Given the description of an element on the screen output the (x, y) to click on. 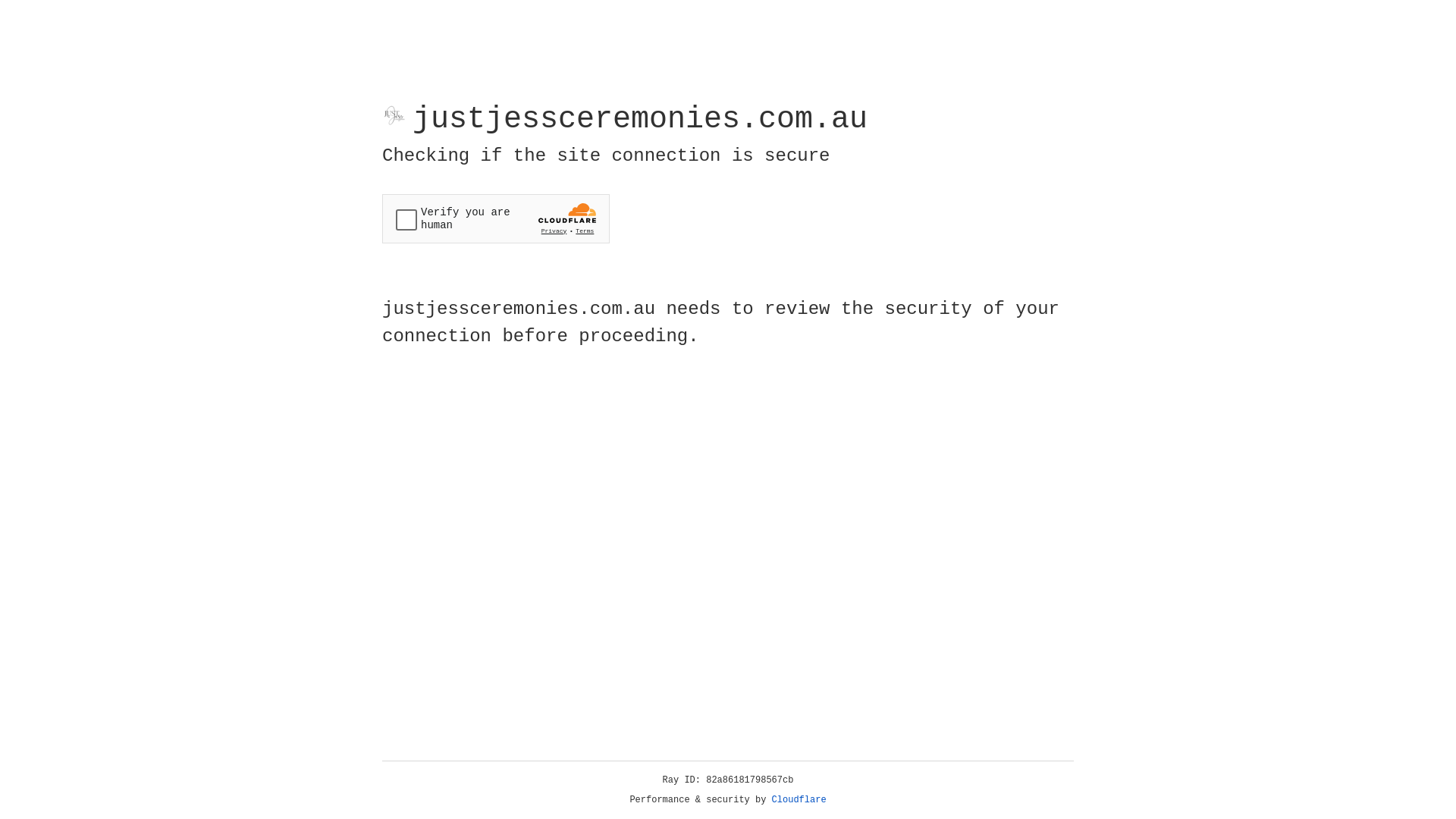
Widget containing a Cloudflare security challenge Element type: hover (495, 218)
Cloudflare Element type: text (798, 799)
